Given the description of an element on the screen output the (x, y) to click on. 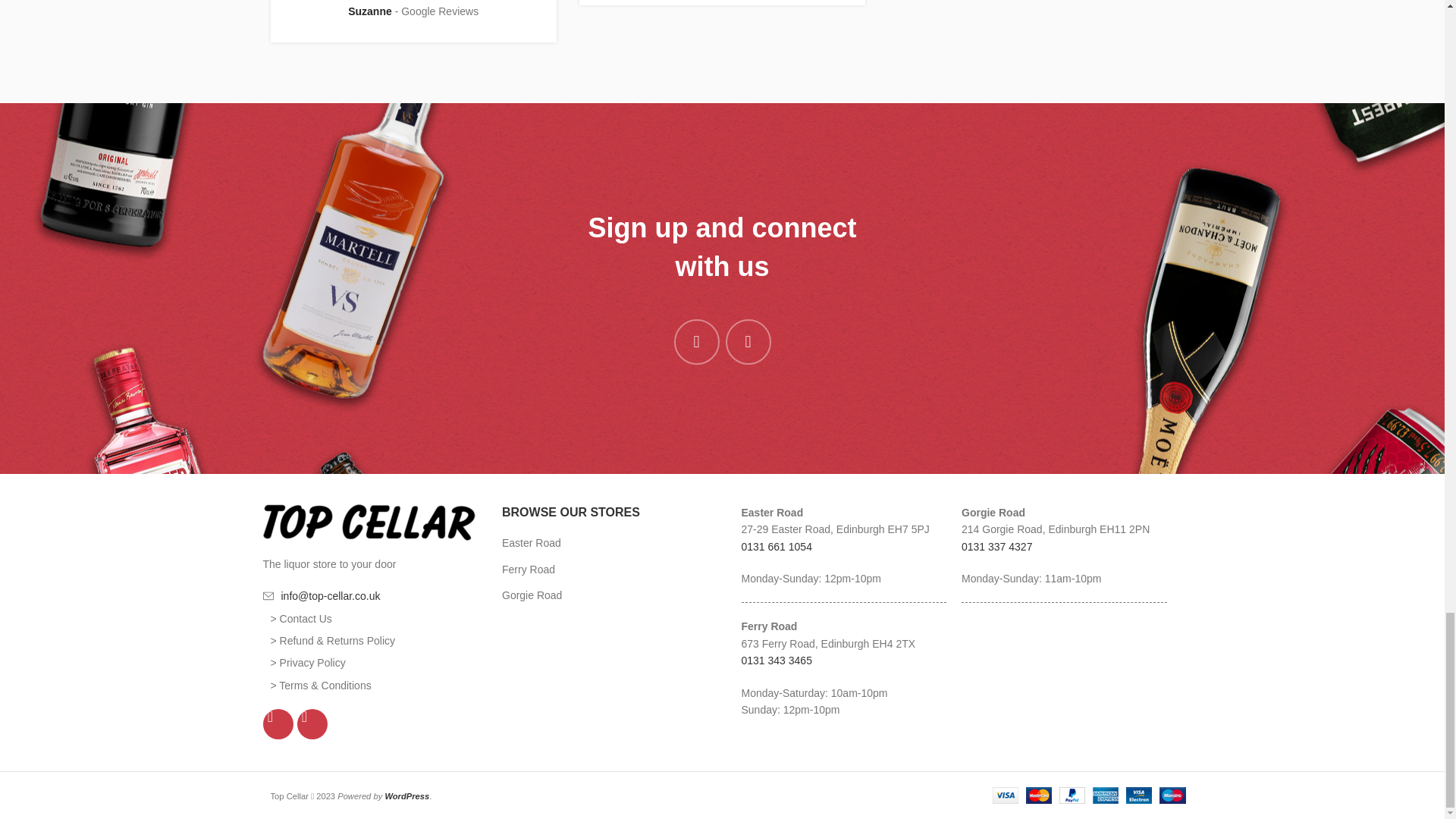
wd-envelope-dark (267, 595)
